Given the description of an element on the screen output the (x, y) to click on. 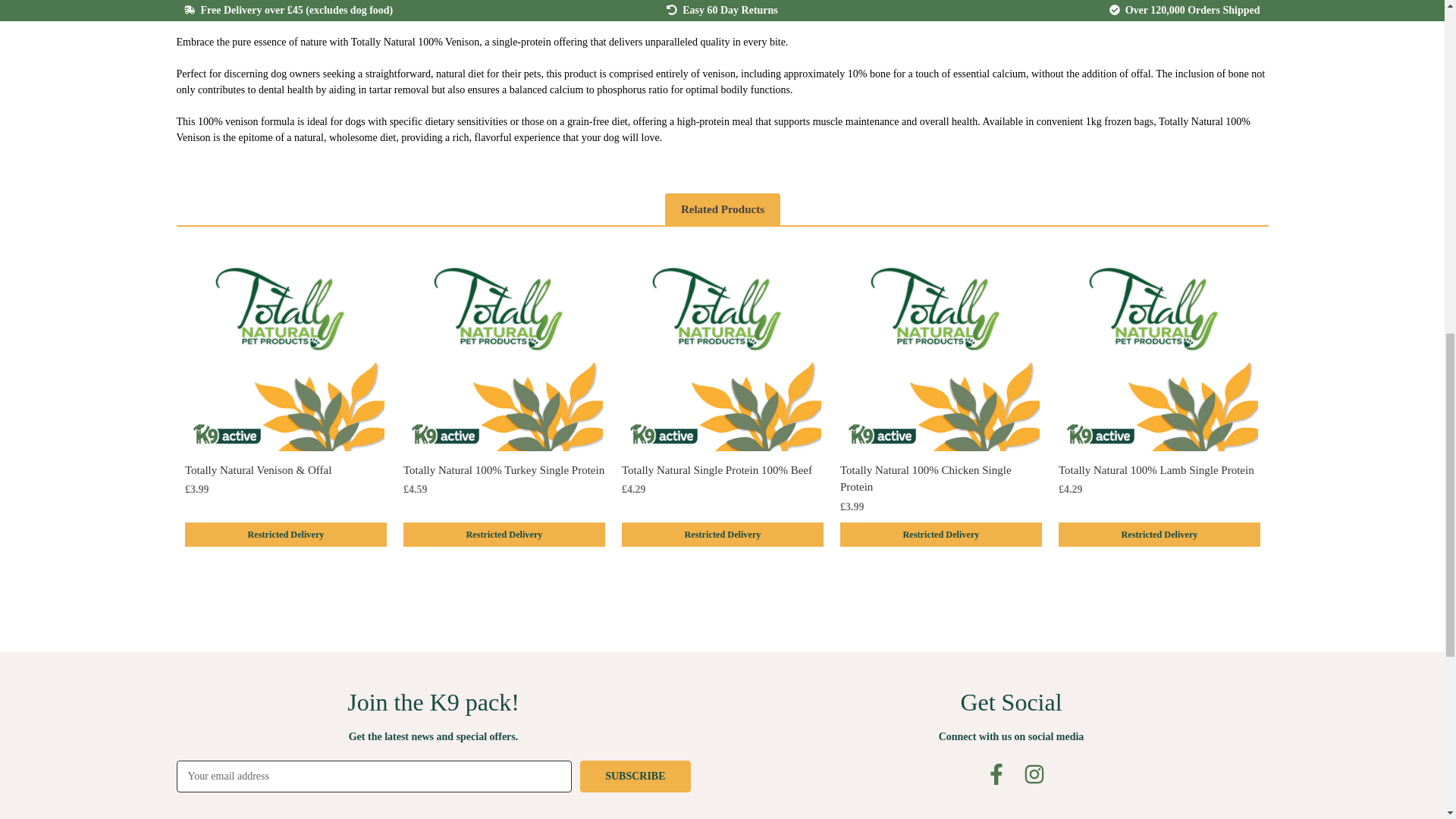
Subscribe (634, 776)
